Given the description of an element on the screen output the (x, y) to click on. 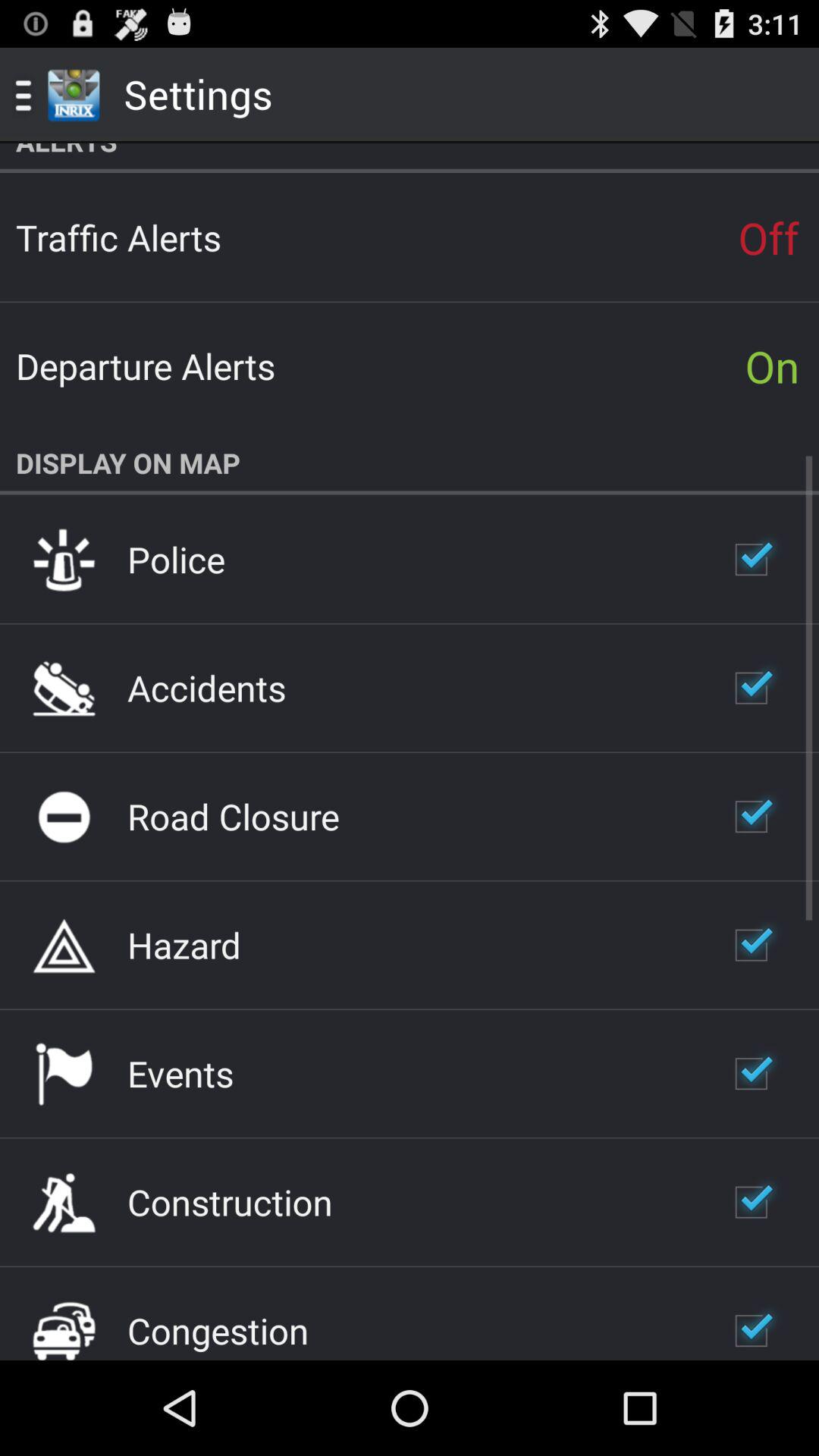
launch construction icon (229, 1201)
